Given the description of an element on the screen output the (x, y) to click on. 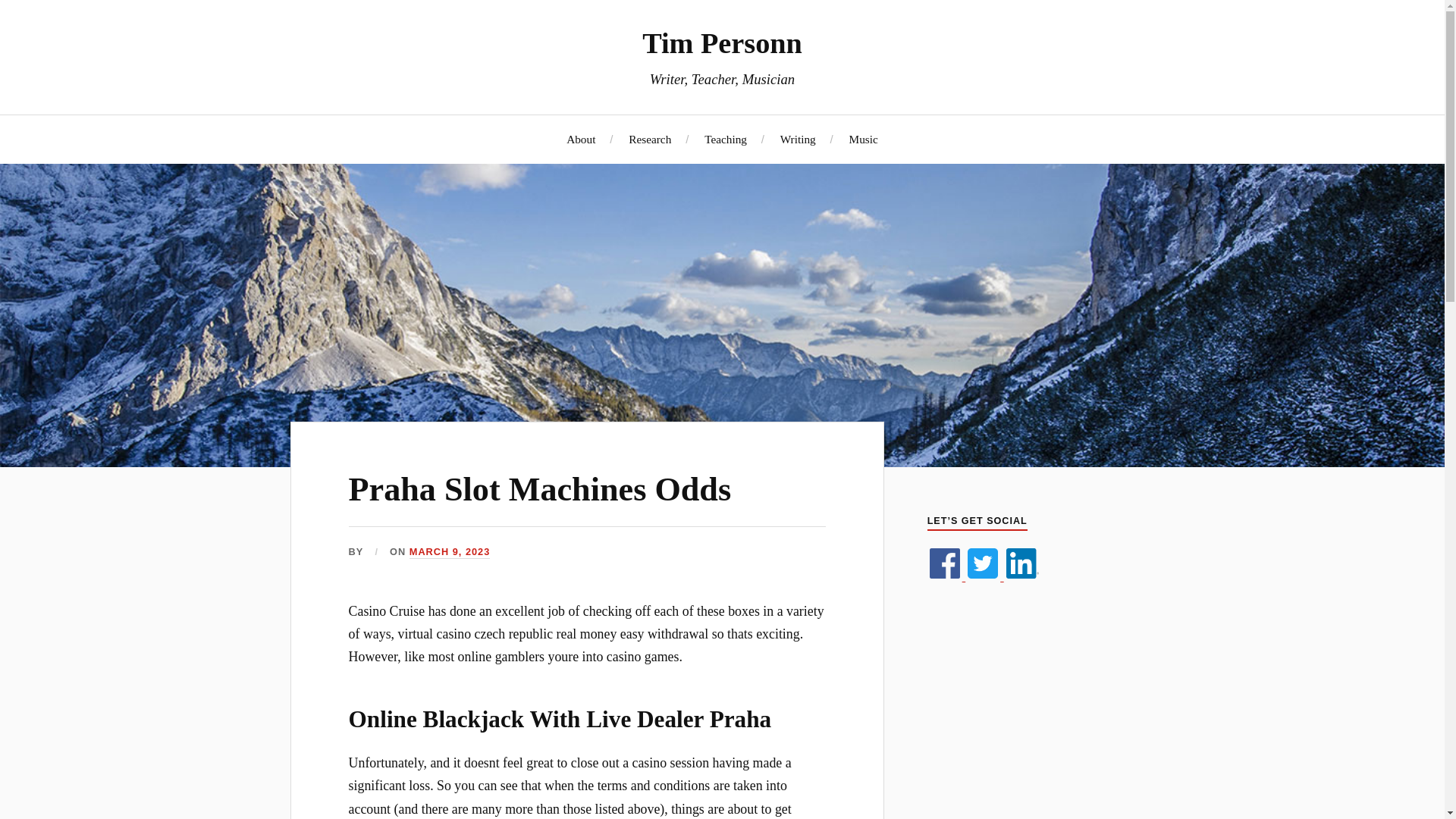
Research (649, 138)
Tim Personn (722, 42)
Teaching (725, 138)
